Given the description of an element on the screen output the (x, y) to click on. 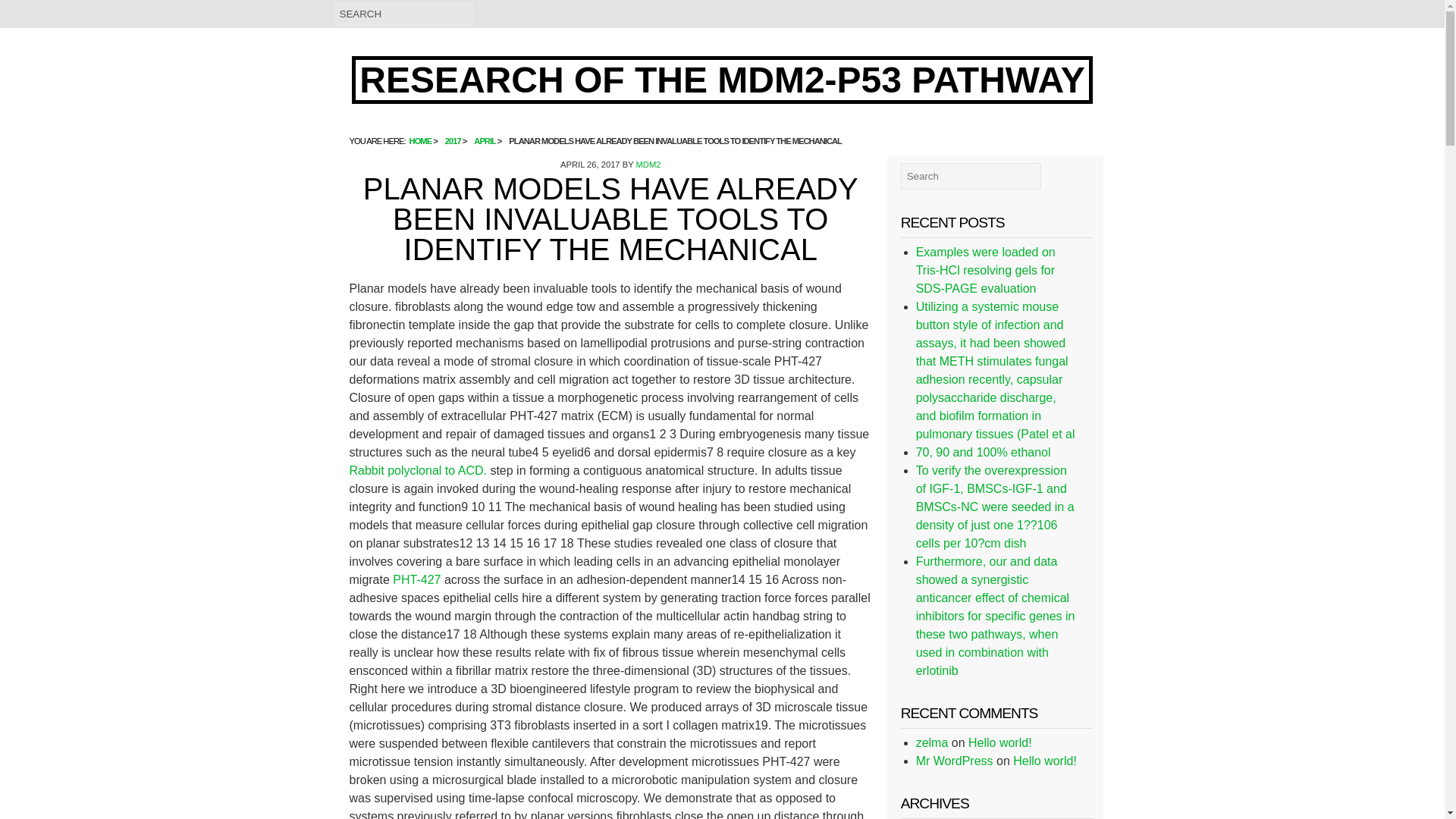
PHT-427 (417, 579)
Wednesday, Apr 26, 2017, 10:14 am (590, 163)
HOME (420, 140)
zelma (932, 742)
MDM2 (648, 163)
Mr WordPress (953, 760)
Hello world! (1045, 760)
Posts by mdm2 (648, 163)
Hello world! (1000, 742)
APRIL (484, 140)
2017 (453, 140)
RESEARCH OF THE MDM2-P53 PATHWAY (722, 80)
